Given the description of an element on the screen output the (x, y) to click on. 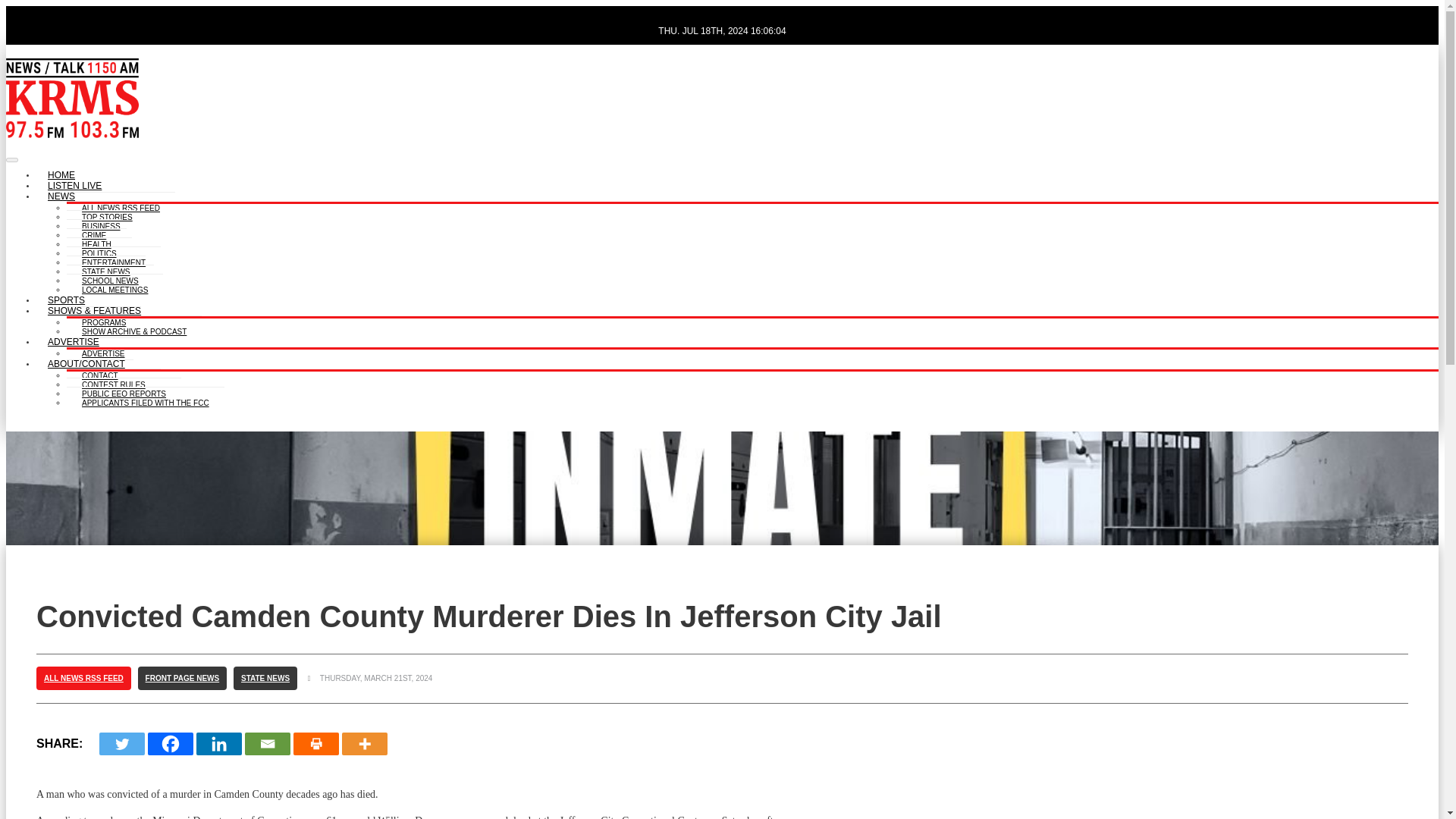
News (61, 196)
POLITICS (99, 251)
State News (105, 269)
BUSINESS (100, 223)
LOCAL MEETINGS (114, 287)
CONTACT (99, 373)
Top Stories (107, 214)
APPLICANTS FILED WITH THE FCC (145, 400)
HEALTH (96, 242)
ADVERTISE (102, 351)
SCHOOL NEWS (110, 278)
Health (96, 242)
ALL NEWS RSS FEED (83, 678)
FRONT PAGE NEWS (182, 678)
Entertainment (113, 260)
